Given the description of an element on the screen output the (x, y) to click on. 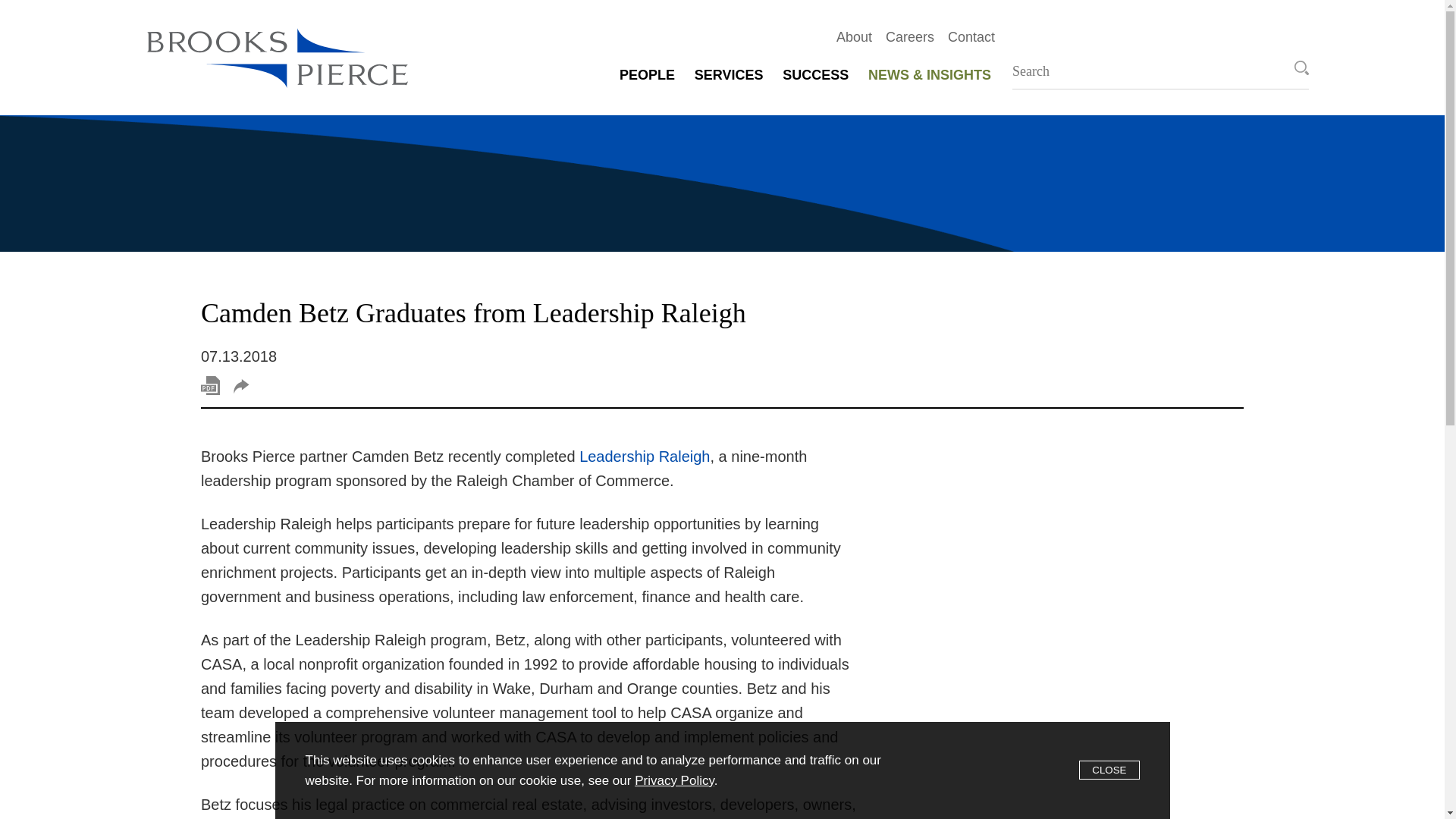
About (847, 37)
SERVICES (728, 74)
SUCCESS (814, 74)
Main Menu (679, 20)
PEOPLE (646, 74)
Share (240, 386)
Menu (679, 20)
Main Content (671, 20)
Careers (903, 37)
